Given the description of an element on the screen output the (x, y) to click on. 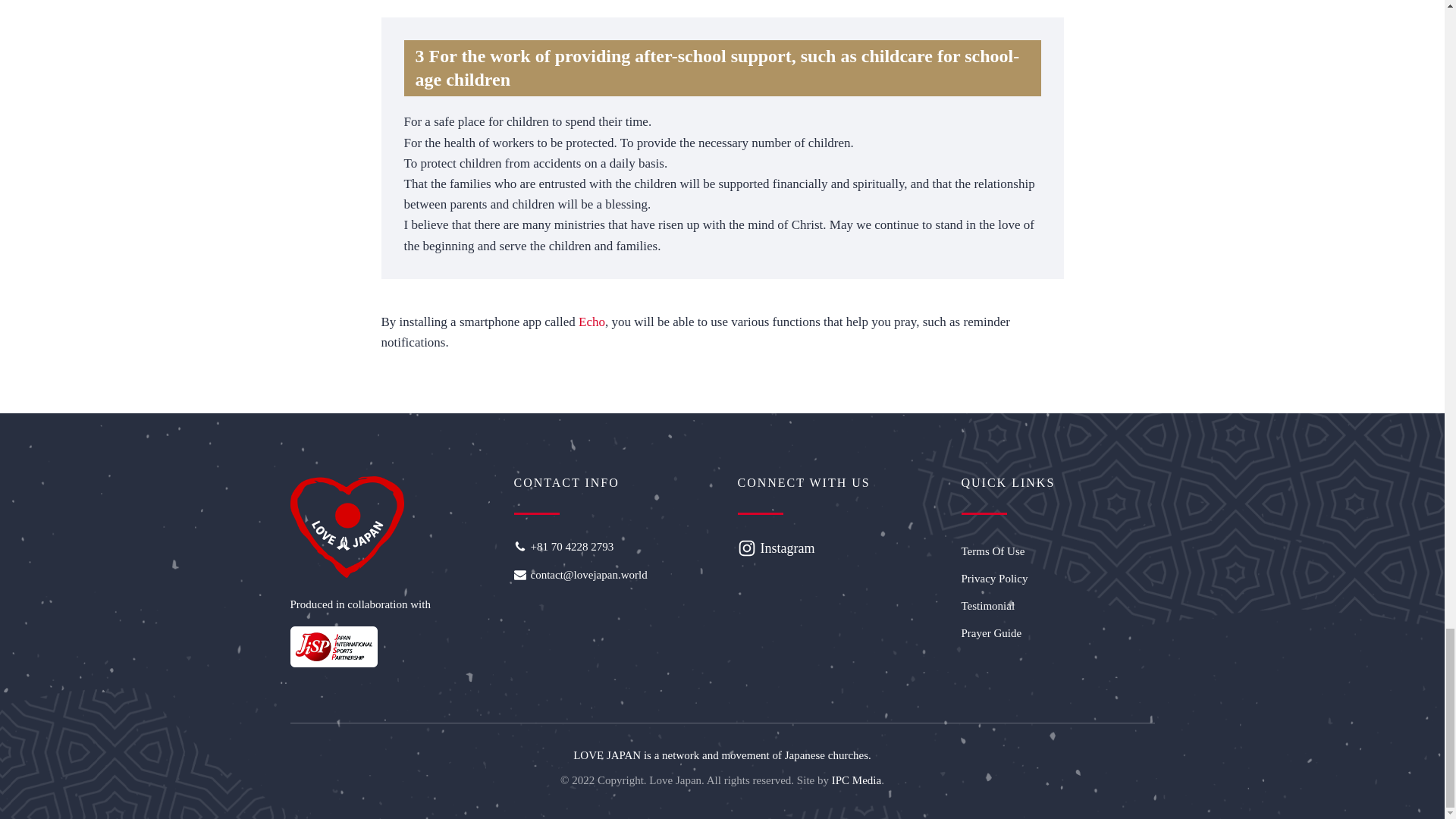
Testimonial (1057, 605)
Privacy Policy (1057, 578)
Echo (591, 321)
Terms Of Use (1057, 551)
Instagram (786, 548)
IPC Media (855, 779)
Prayer Guide (1057, 633)
